Given the description of an element on the screen output the (x, y) to click on. 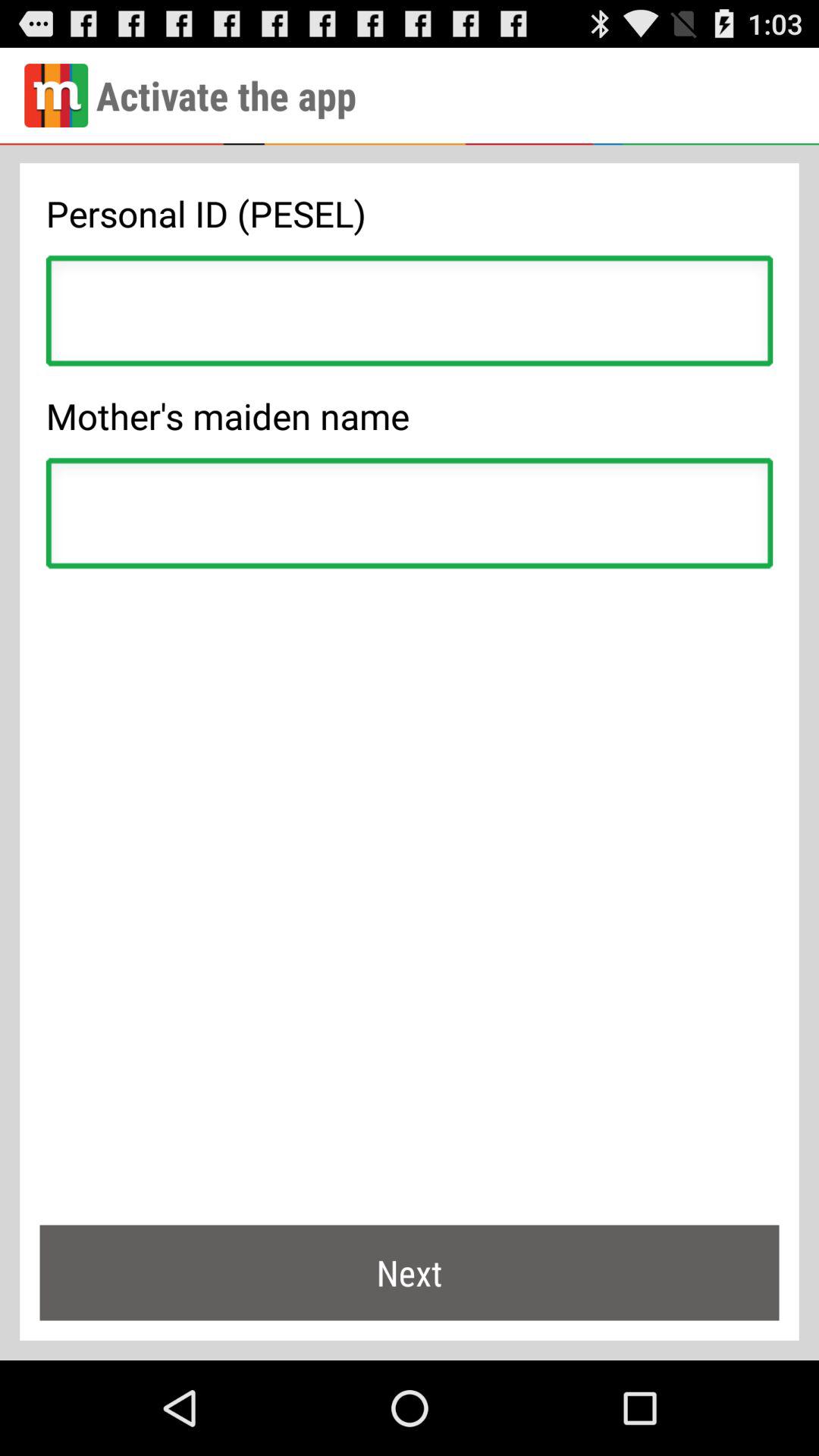
swipe to next item (409, 1272)
